Given the description of an element on the screen output the (x, y) to click on. 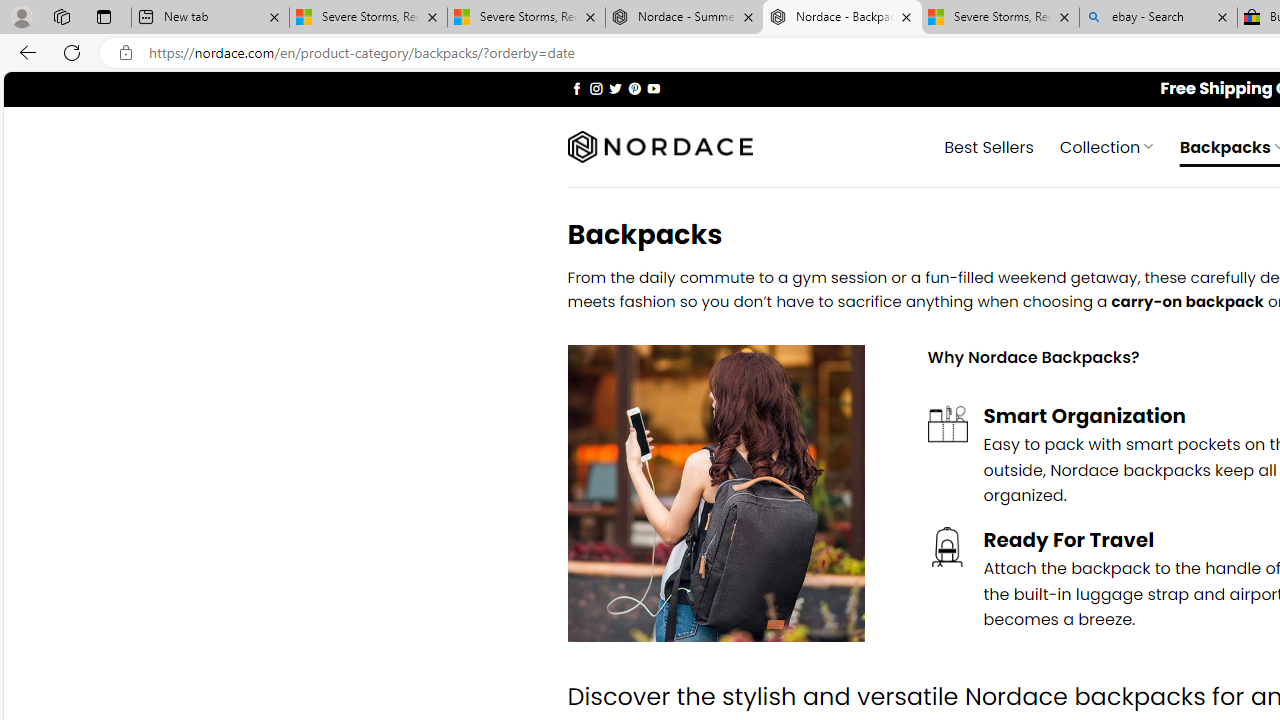
Follow on YouTube (653, 88)
Follow on Twitter (615, 88)
  Best Sellers (989, 146)
